Given the description of an element on the screen output the (x, y) to click on. 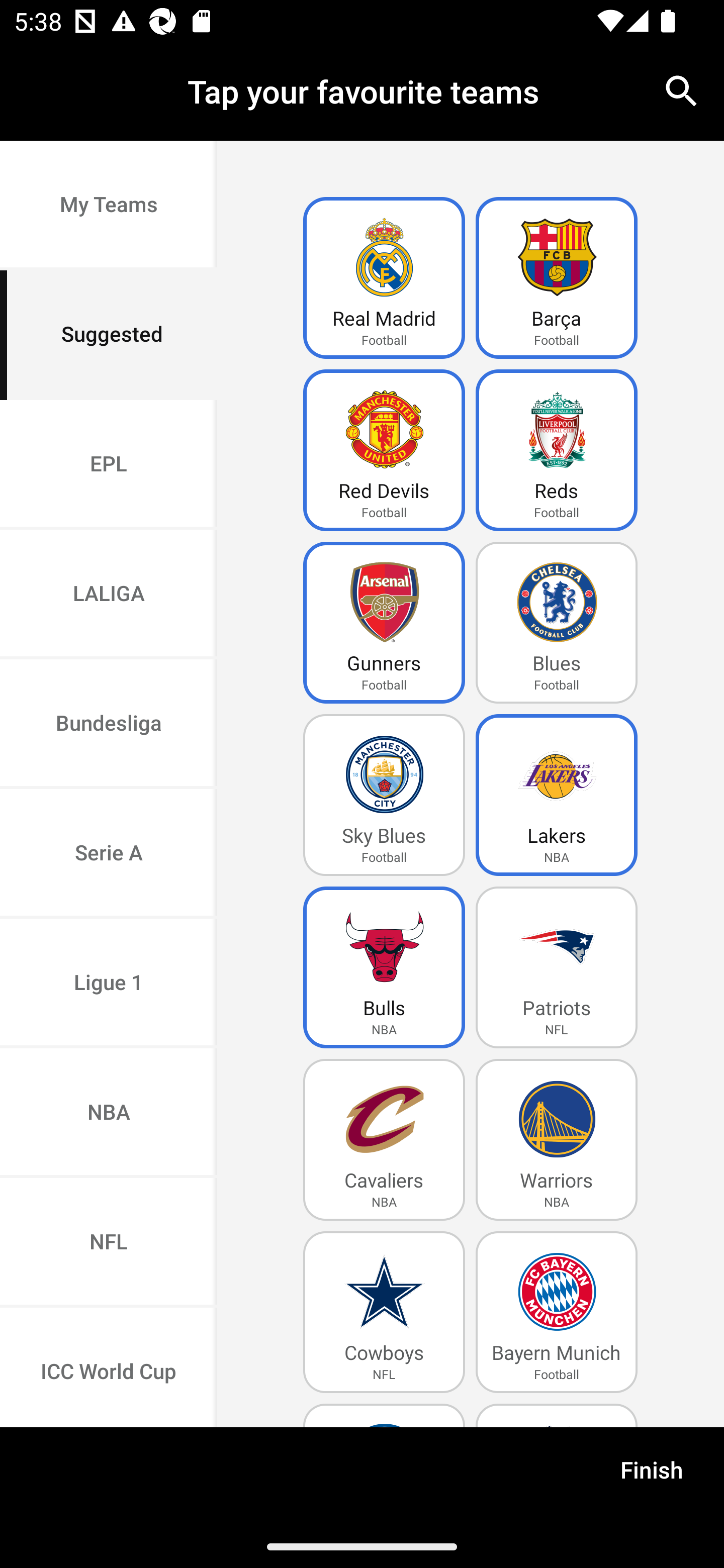
search (681, 90)
My Teams (108, 206)
Real Madrid Real MadridSelected Football (383, 278)
Barça BarçaSelected Football (556, 278)
Suggested (108, 334)
Red Devils Red DevilsSelected Football (383, 450)
Reds RedsSelected Football (556, 450)
EPL (108, 464)
LALIGA (108, 594)
Gunners GunnersSelected Football (383, 623)
Blues Blues Football (556, 623)
Bundesliga (108, 725)
Sky Blues Sky Blues Football (383, 794)
Lakers LakersSelected NBA (556, 794)
Serie A (108, 853)
Bulls BullsSelected NBA (383, 966)
Patriots Patriots NFL (556, 966)
Ligue 1 (108, 983)
NBA (108, 1113)
Cavaliers Cavaliers NBA (383, 1139)
Warriors Warriors NBA (556, 1139)
NFL (108, 1242)
Cowboys Cowboys NFL (383, 1311)
Bayern Munich Bayern Munich Football (556, 1311)
ICC World Cup (108, 1366)
Finish Finish and Close (651, 1475)
